Given the description of an element on the screen output the (x, y) to click on. 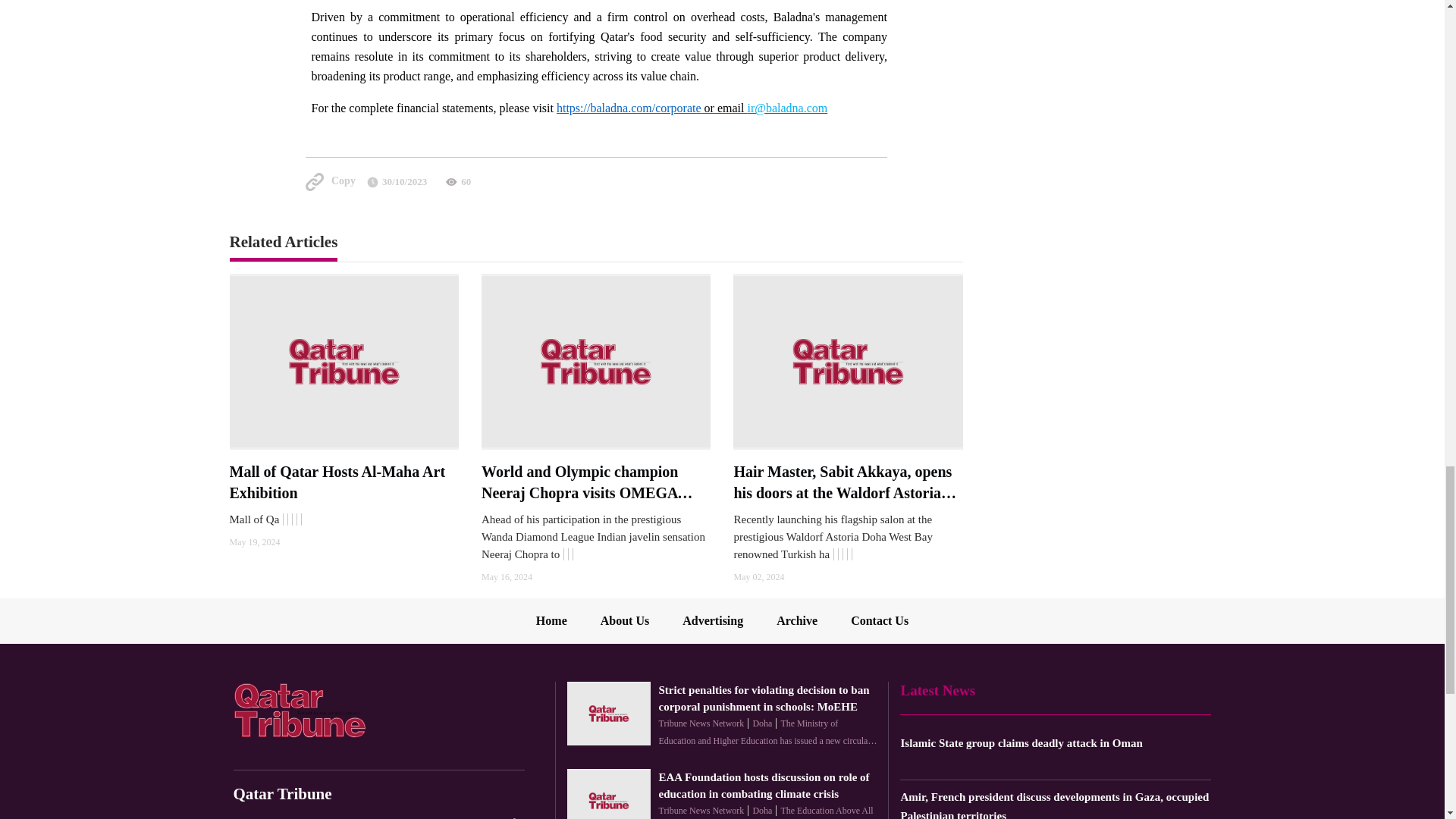
  Copy (329, 181)
